Given the description of an element on the screen output the (x, y) to click on. 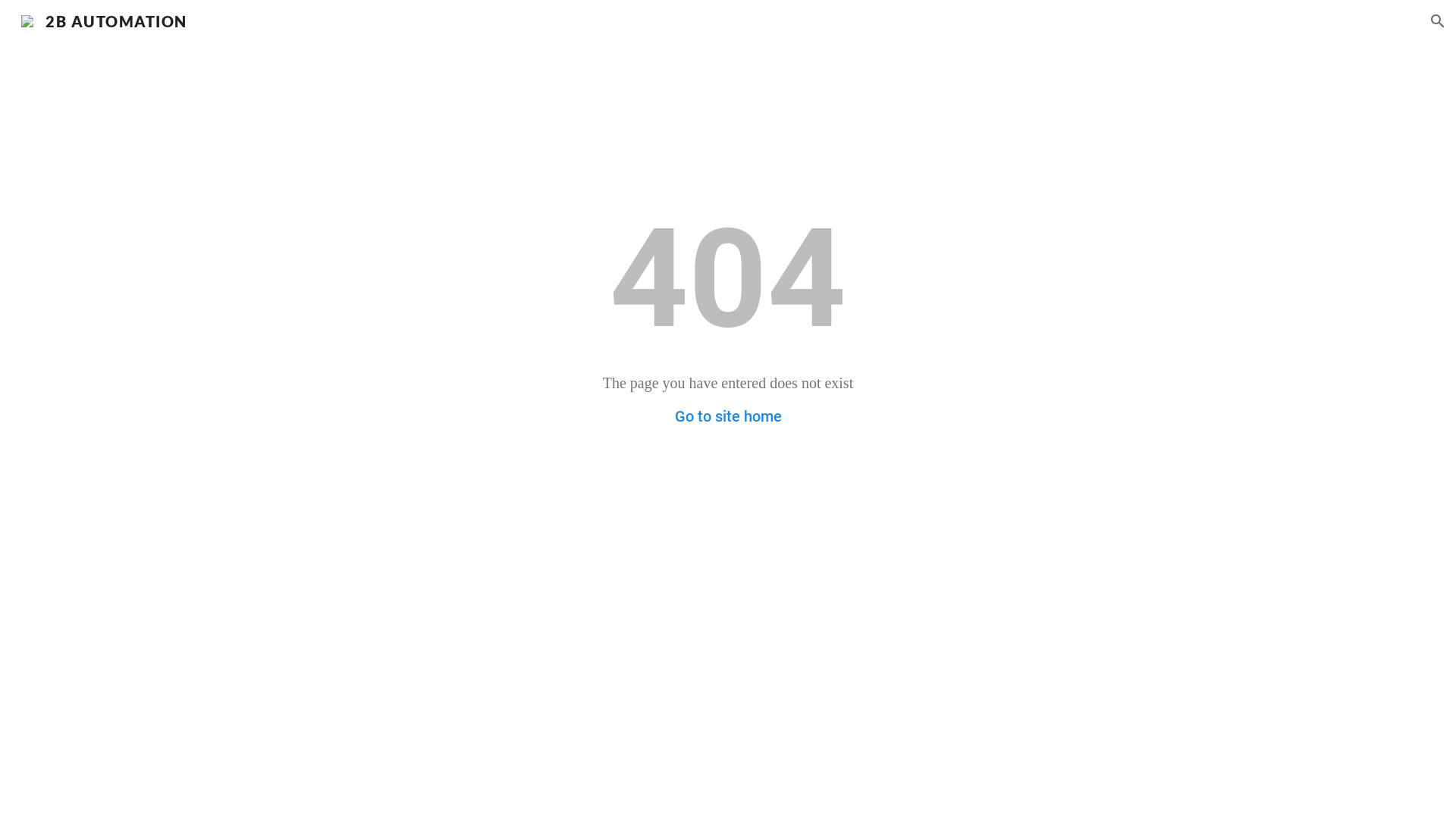
2B AUTOMATION Element type: text (104, 18)
Go to site home Element type: text (727, 416)
